Given the description of an element on the screen output the (x, y) to click on. 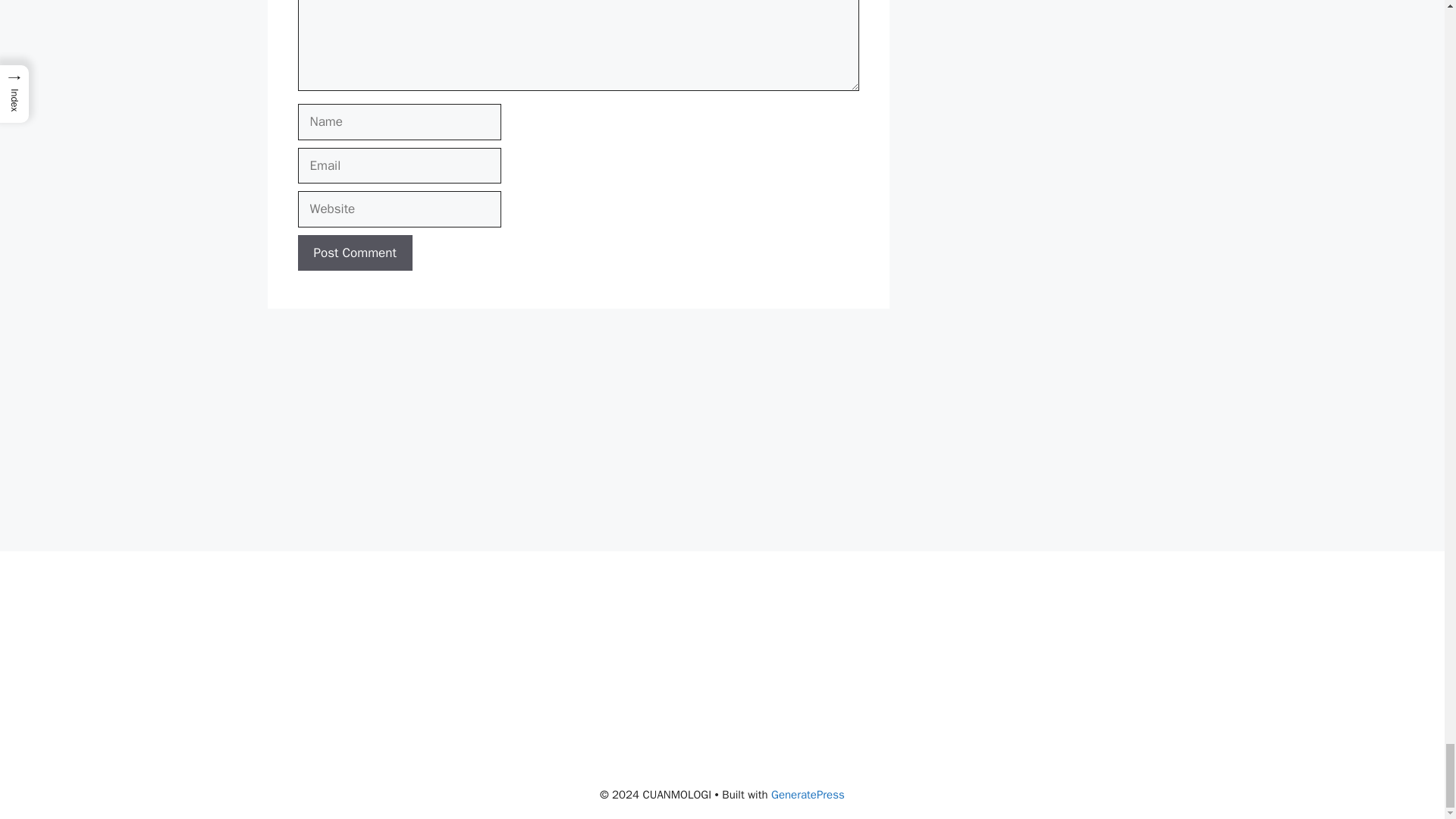
Post Comment (354, 253)
